Given the description of an element on the screen output the (x, y) to click on. 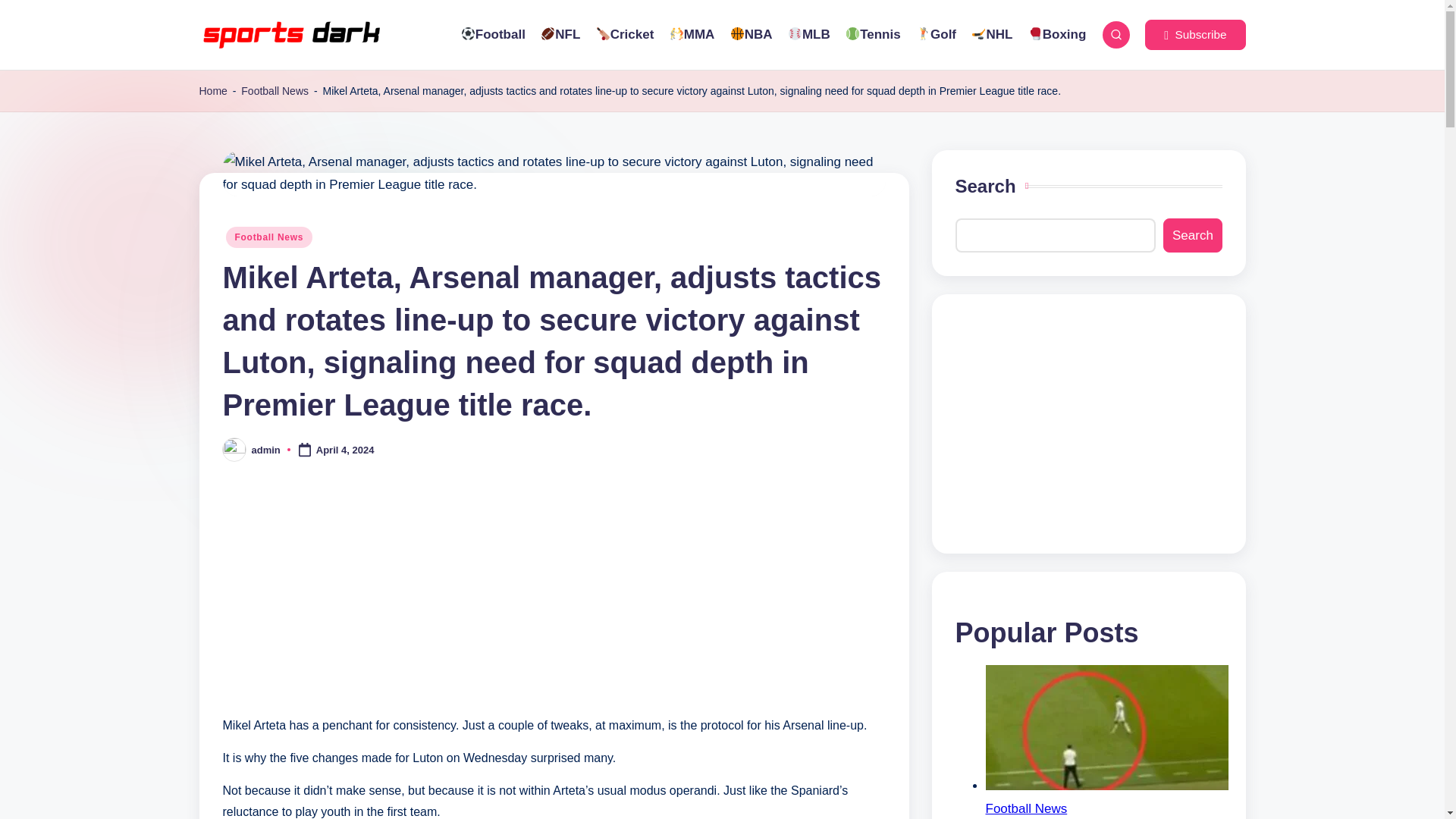
Boxing (1056, 34)
Football (492, 34)
Football News (274, 90)
Tennis (873, 34)
admin (266, 449)
Cricket (624, 34)
Advertisement (1089, 423)
NBA (750, 34)
Subscribe (1194, 34)
MLB (808, 34)
Search (1192, 235)
NHL (991, 34)
Football News (269, 237)
